Given the description of an element on the screen output the (x, y) to click on. 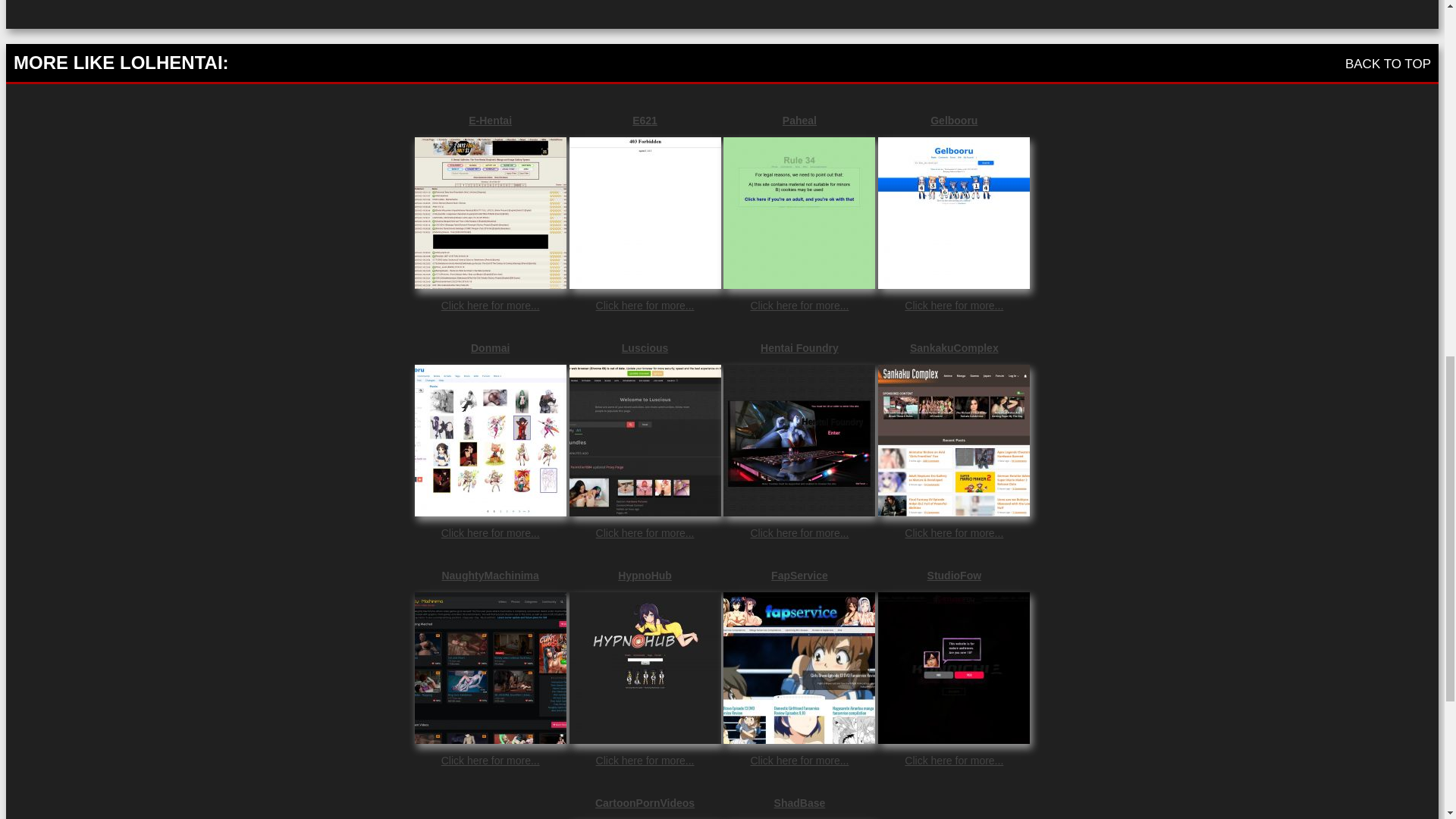
Luscious (644, 347)
NaughtyMachinima (490, 575)
E-Hentai (490, 120)
HypnoHub (644, 575)
Hentai Foundry (799, 347)
Gelbooru (953, 120)
Click here for more... (798, 760)
Click here for more... (953, 305)
Click here for more... (798, 532)
Click here for more... (798, 305)
BACK TO TOP (1388, 63)
StudioFow (953, 575)
Click here for more... (644, 305)
E621 (644, 120)
Click here for more... (490, 760)
